Given the description of an element on the screen output the (x, y) to click on. 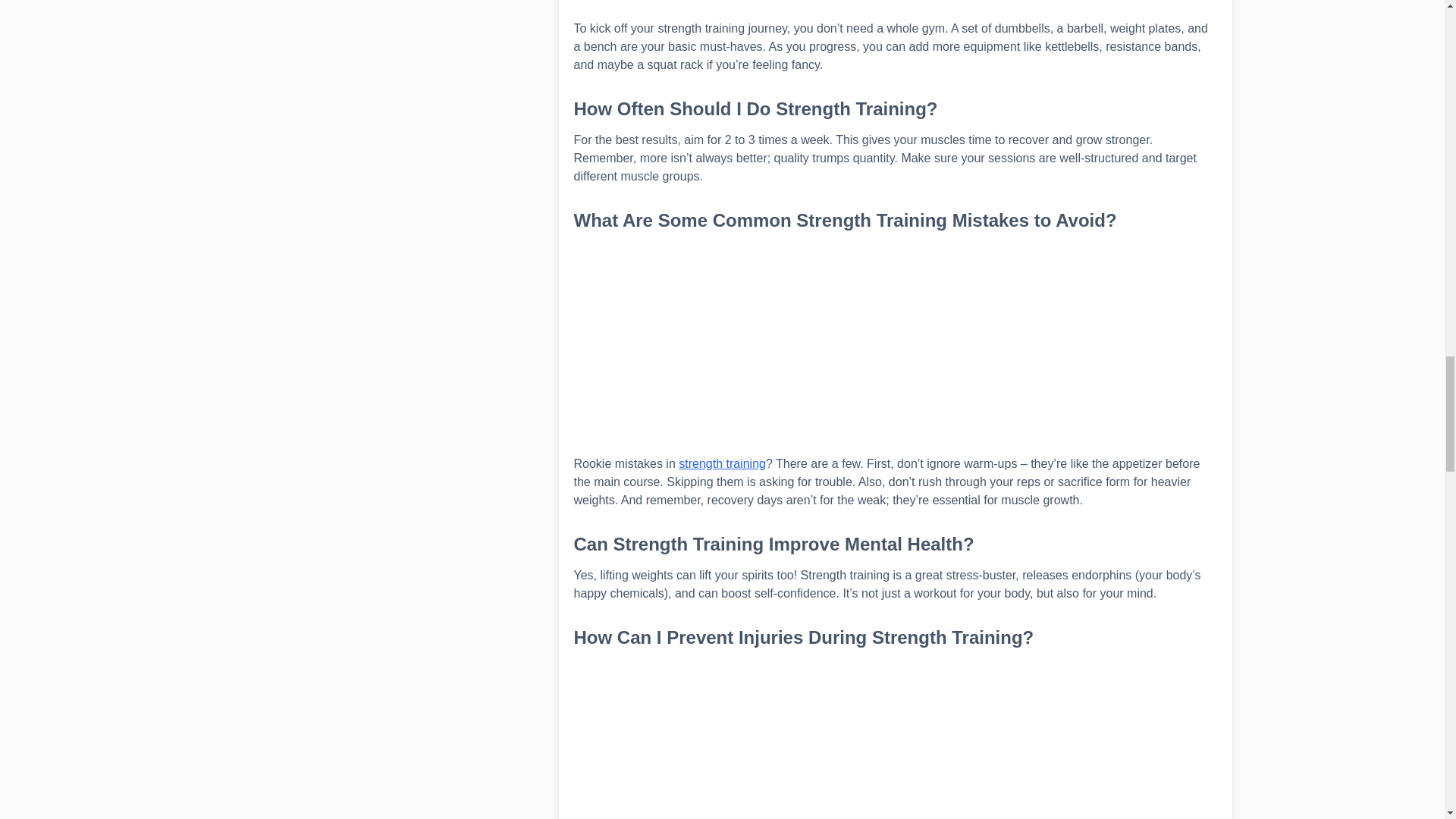
Advertisement (895, 739)
strength training (721, 463)
Advertisement (895, 9)
